Given the description of an element on the screen output the (x, y) to click on. 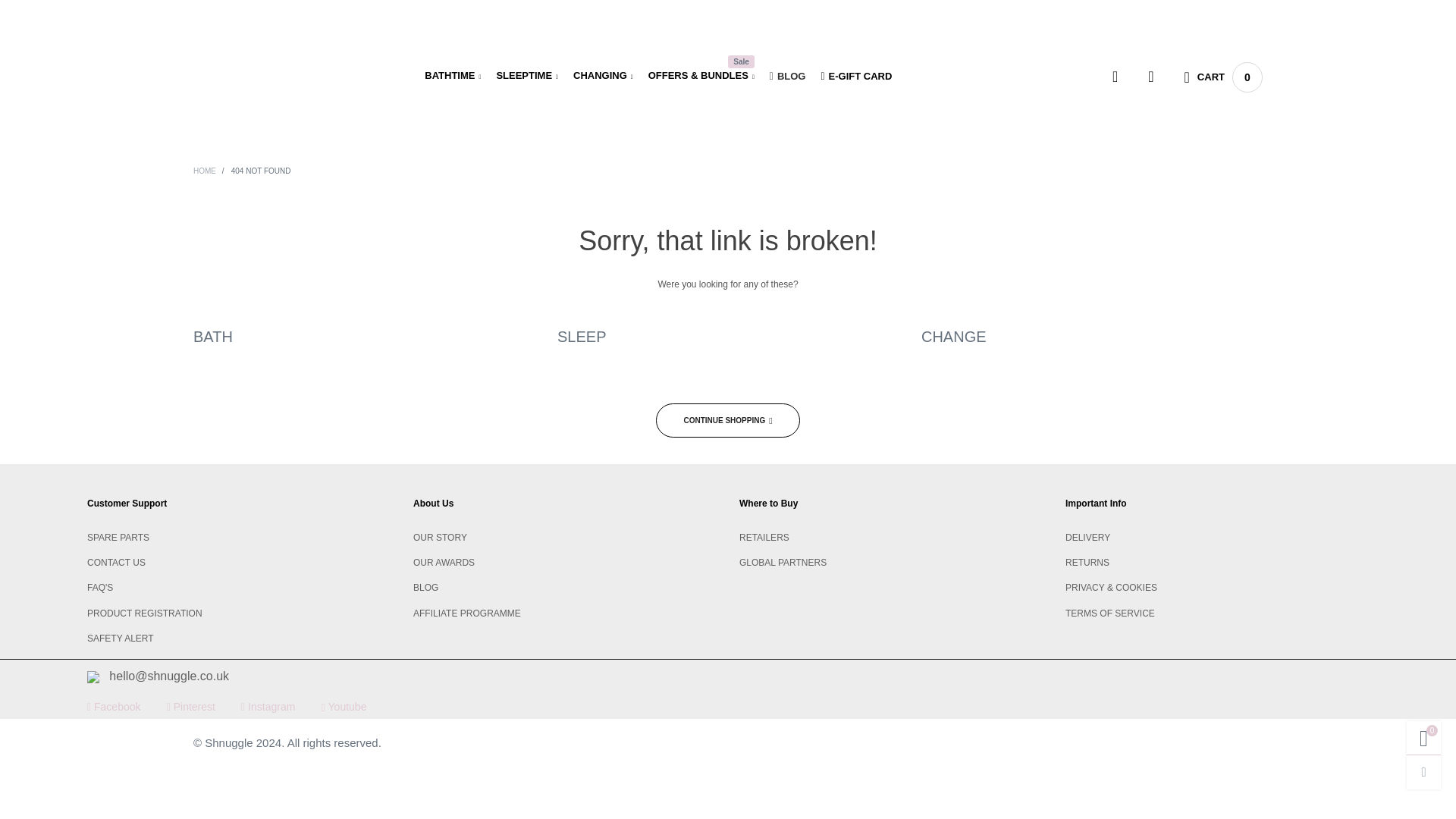
Shnuggle (267, 74)
BATHTIME (452, 75)
Sign In (1114, 312)
404 NOT FOUND (261, 171)
Bathtime (452, 75)
BLOG (788, 76)
HOME (205, 171)
Sleeptime (526, 75)
Blog (788, 76)
E-Gift Card (856, 76)
SLEEPTIME (526, 75)
Changing (603, 75)
CHANGING (603, 75)
CONTINUE SHOPPING (727, 420)
Search ... (1114, 76)
